Given the description of an element on the screen output the (x, y) to click on. 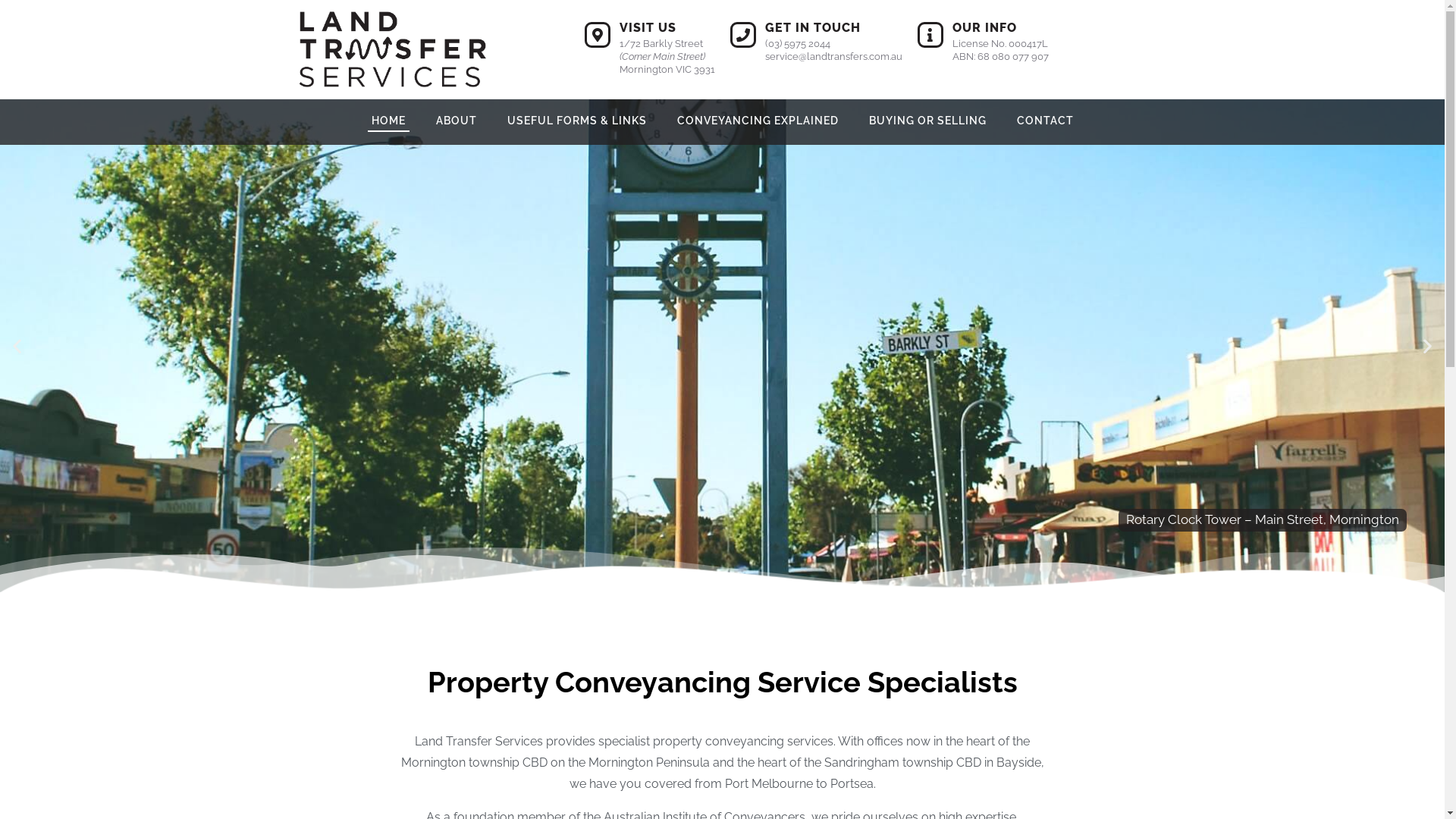
BUYING OR SELLING Element type: text (926, 120)
GET IN TOUCH Element type: text (811, 27)
1/72 Barkly Street
(Corner Main Street)
Mornington VIC 3931 Element type: text (666, 56)
CONVEYANCING EXPLAINED Element type: text (757, 120)
USEFUL FORMS & LINKS Element type: text (576, 120)
(03) 5975 2044 Element type: text (796, 43)
VISIT US Element type: text (646, 27)
service@landtransfers.com.au Element type: text (832, 56)
ABOUT Element type: text (456, 120)
HOME Element type: text (387, 120)
CONTACT Element type: text (1045, 120)
